Given the description of an element on the screen output the (x, y) to click on. 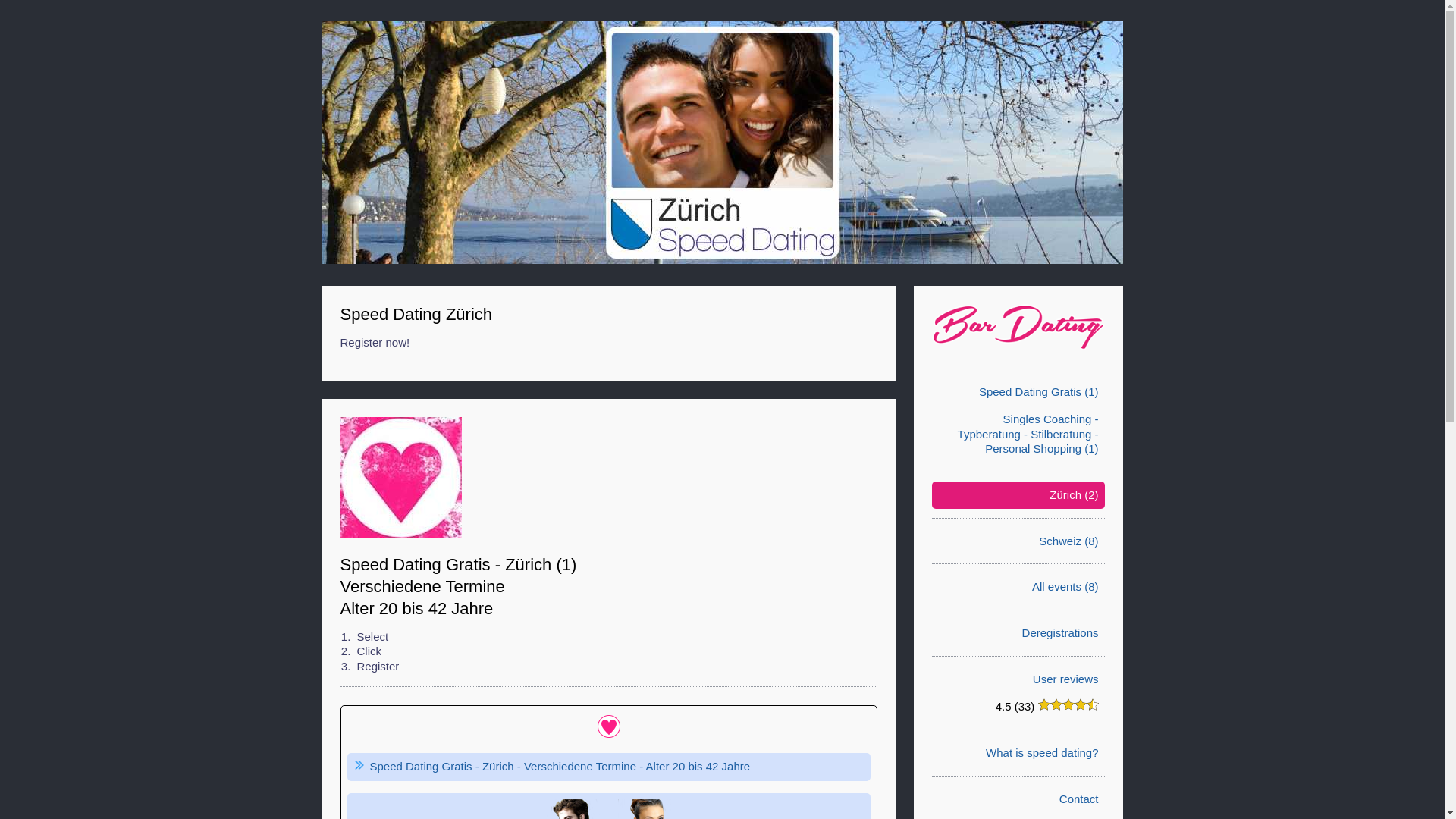
What is speed dating? Element type: text (1041, 752)
Contact Element type: text (1078, 798)
Schweiz (8) Element type: text (1068, 540)
Speed Dating Gratis (1) Element type: text (1038, 391)
Deregistrations Element type: text (1060, 632)
User reviews Element type: text (1065, 678)
All events (8) Element type: text (1065, 586)
